Given the description of an element on the screen output the (x, y) to click on. 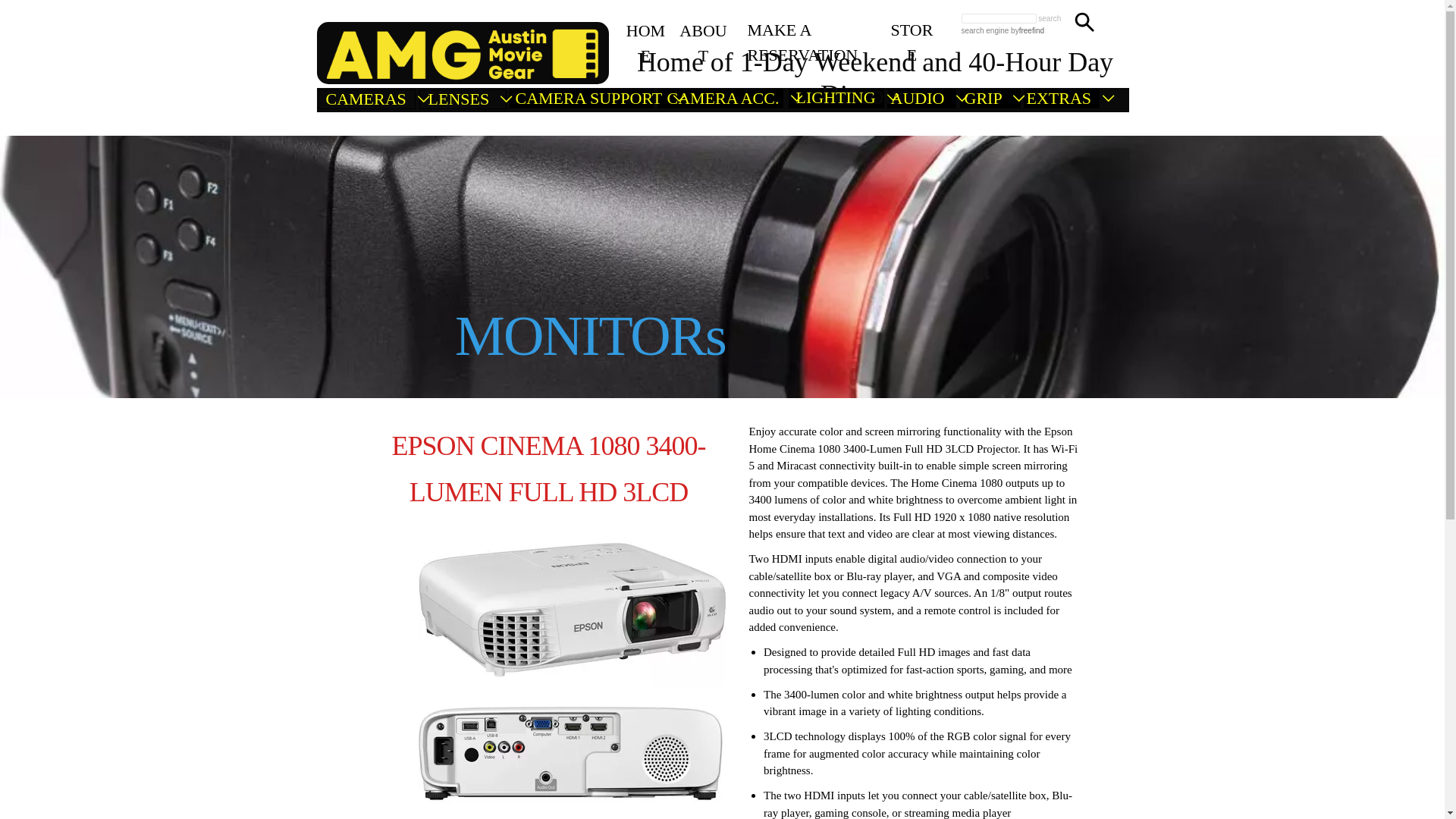
STORE (911, 29)
MAKE A RESERVATION (815, 29)
LENSES (470, 99)
search engine (984, 30)
CAMERA SUPPORT (599, 98)
search (1049, 18)
ABOUT (703, 30)
byfreefind (1026, 30)
HOME (645, 30)
CAMERA ACC. (734, 98)
search (1049, 18)
